Given the description of an element on the screen output the (x, y) to click on. 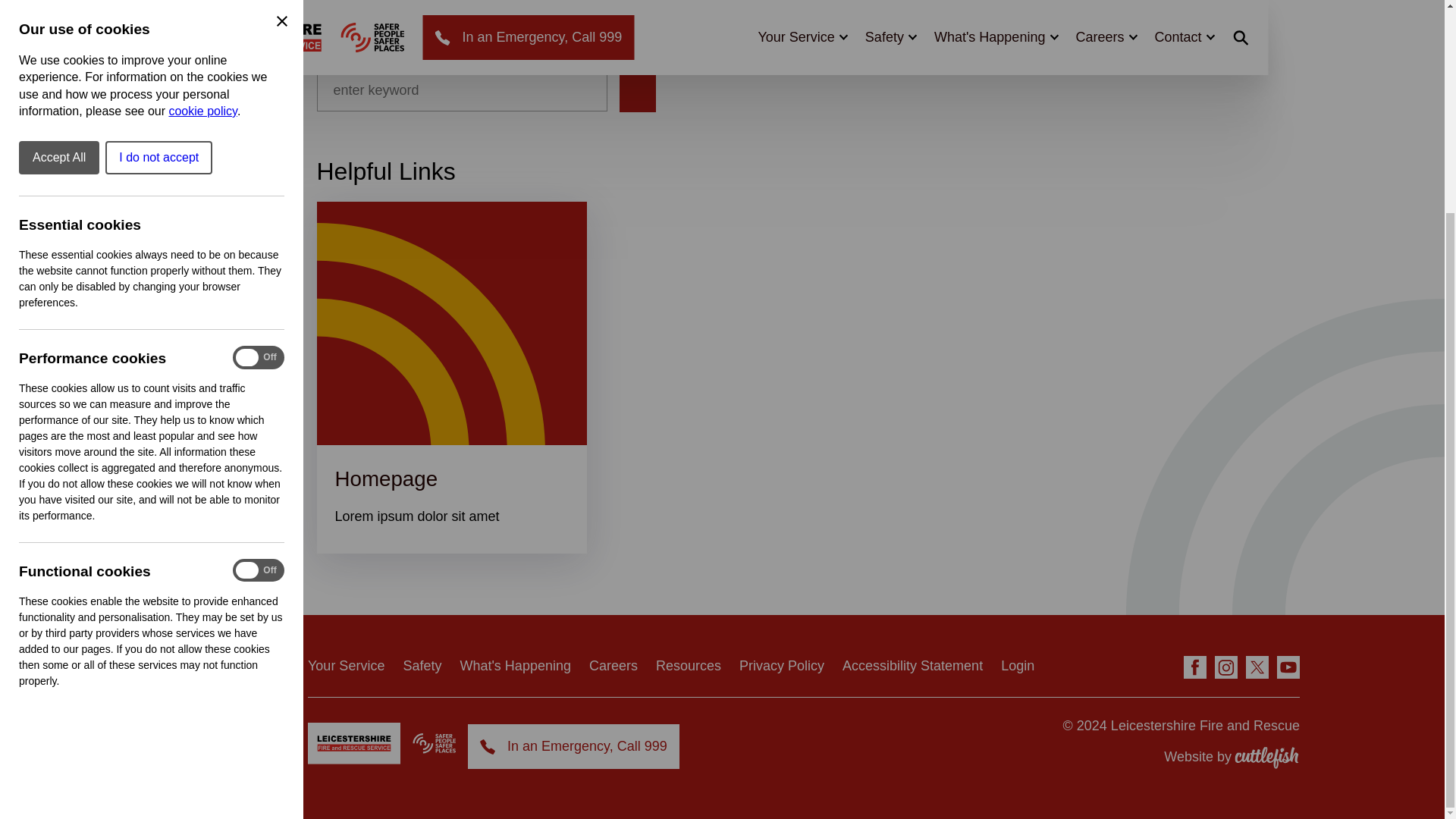
Type search term here (462, 90)
Homepage (386, 478)
Safer Plaaces Logo (433, 743)
